Given the description of an element on the screen output the (x, y) to click on. 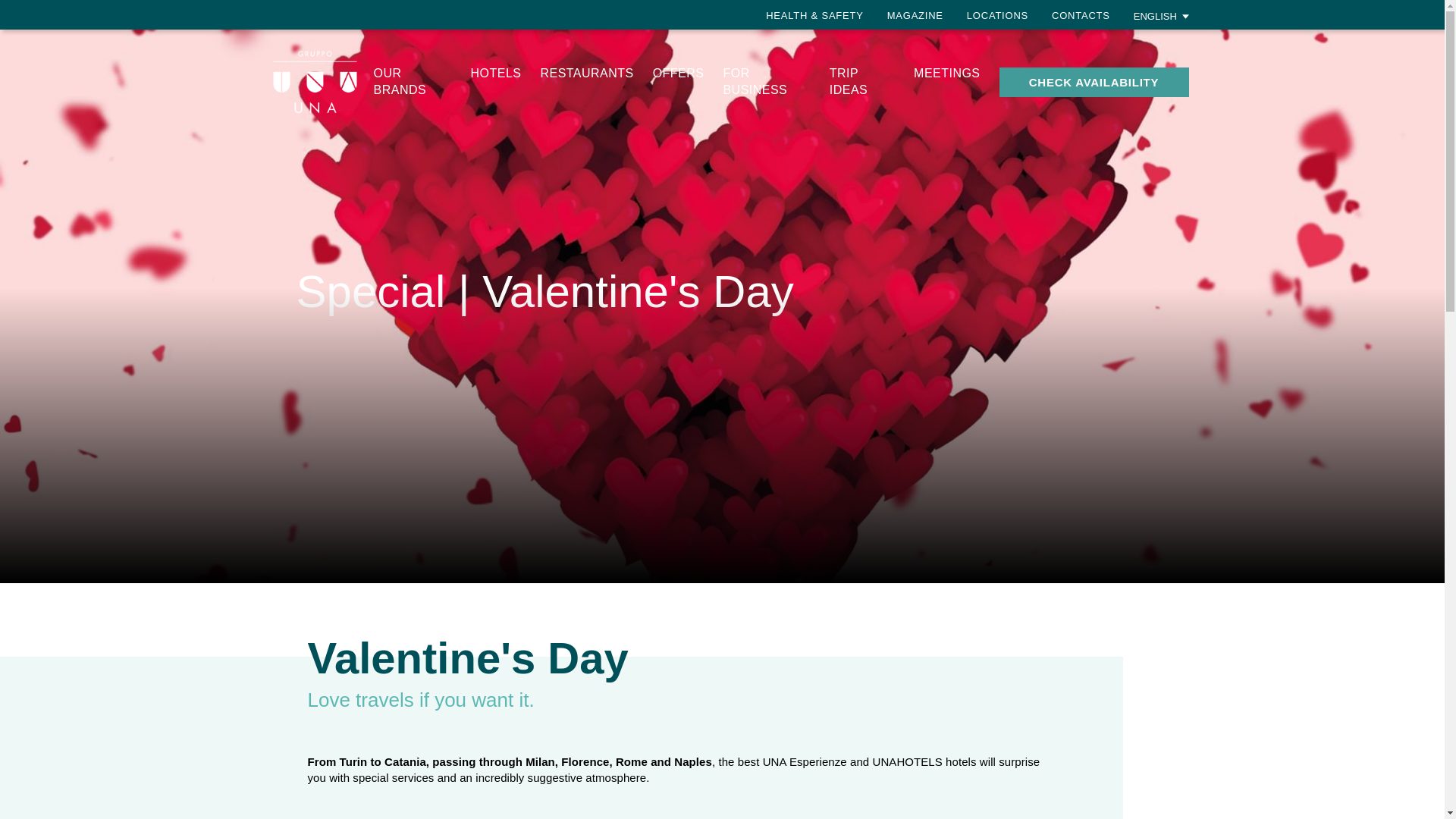
OUR BRANDS (400, 81)
ENGLISH (1161, 15)
MEETINGS (946, 72)
TRIP IDEAS (848, 81)
MAGAZINE (914, 15)
OFFERS (678, 72)
CHECK AVAILABILITY (1093, 82)
LOCATIONS (996, 15)
CONTACTS (1080, 15)
HOTELS (495, 72)
